Given the description of an element on the screen output the (x, y) to click on. 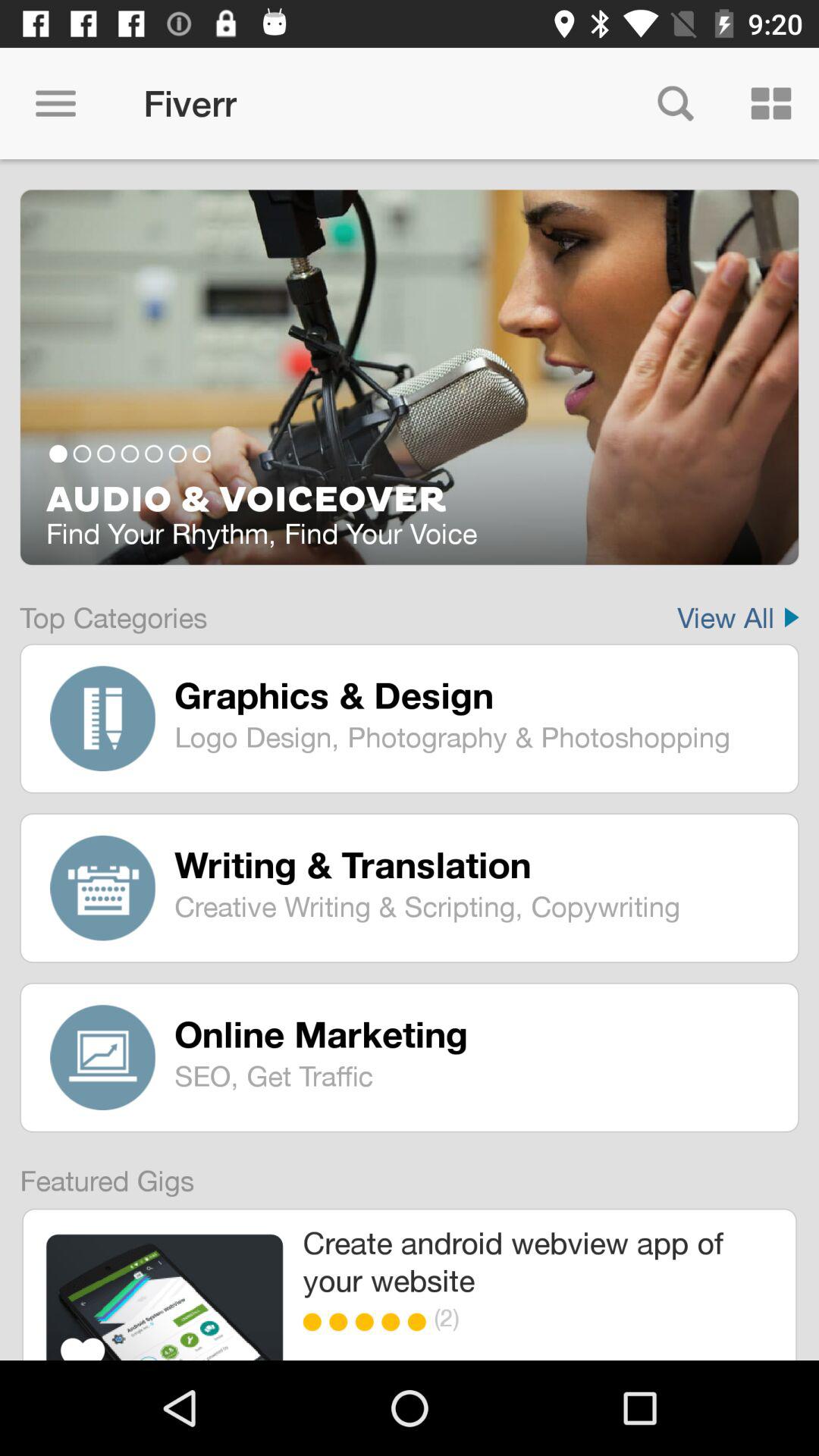
select icon to the left of the create android webview item (164, 1297)
